Given the description of an element on the screen output the (x, y) to click on. 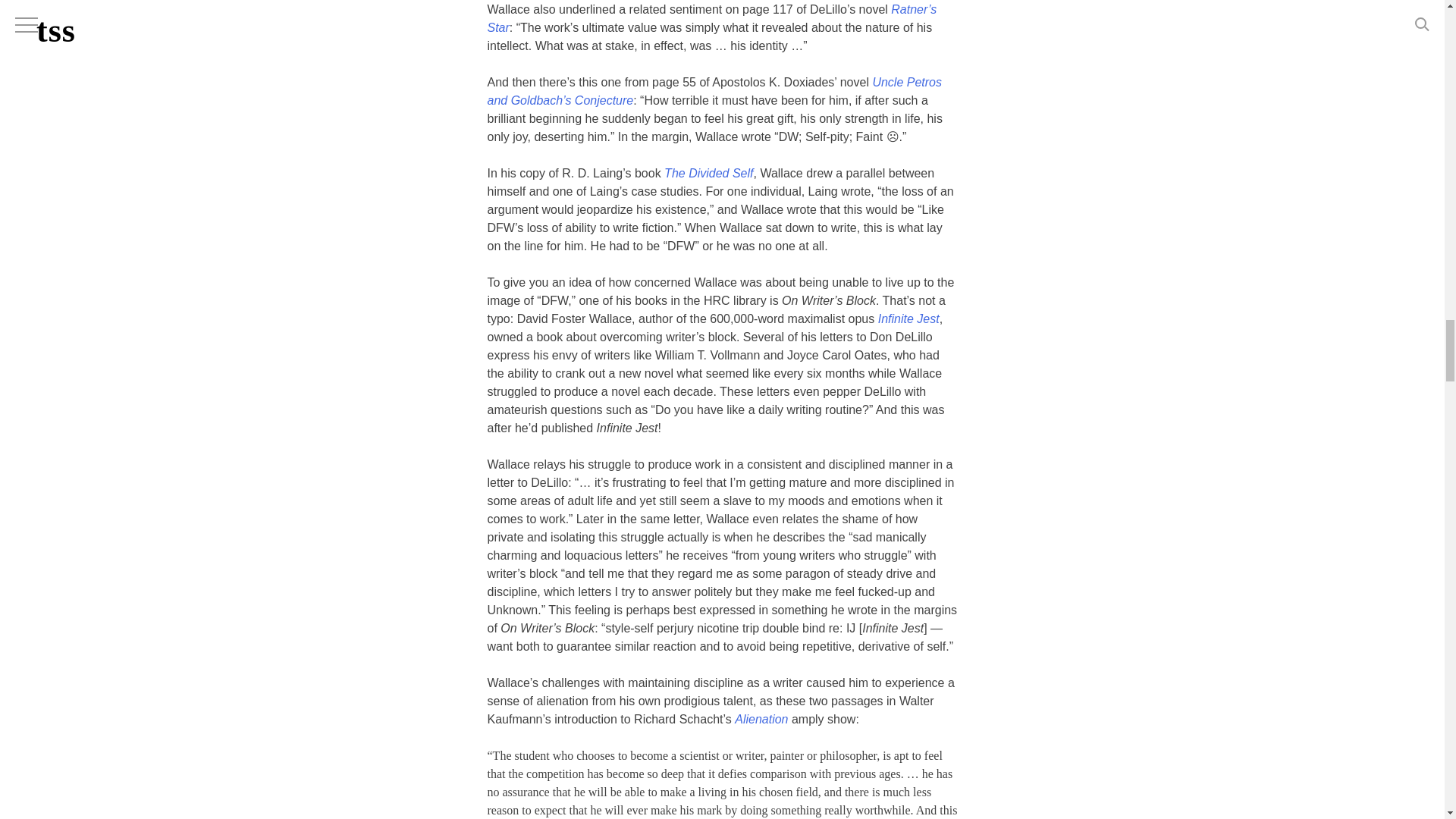
The Divided Self (707, 173)
Alienation (761, 718)
Infinite Jest (908, 318)
